Given the description of an element on the screen output the (x, y) to click on. 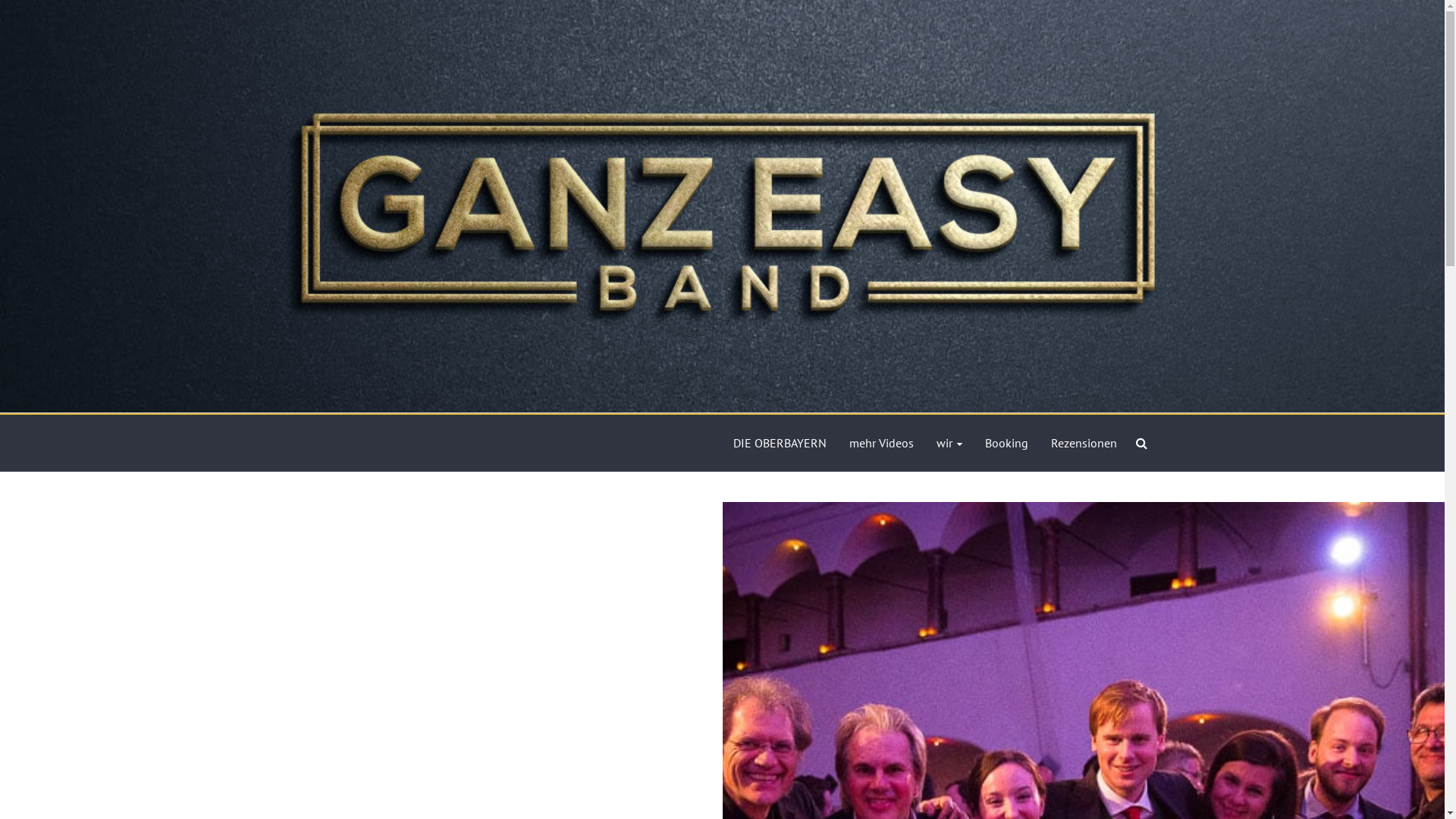
wir Element type: text (948, 442)
Rezensionen Element type: text (1084, 442)
DIE OBERBAYERN Element type: text (778, 442)
mehr Videos Element type: text (881, 442)
Booking Element type: text (1005, 442)
